Given the description of an element on the screen output the (x, y) to click on. 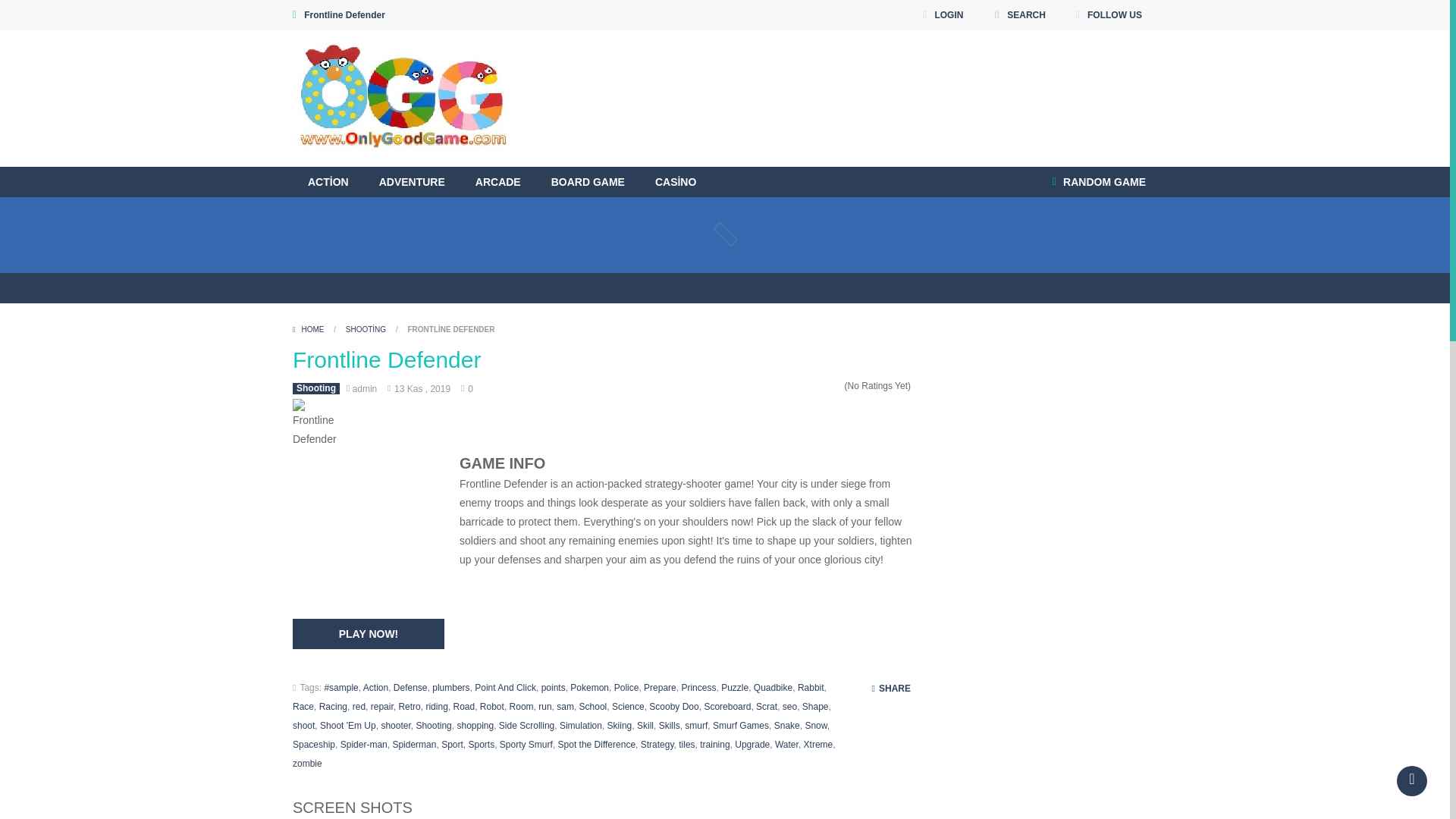
Only Good Game (401, 97)
SEARCH (1019, 15)
FOLLOW US (1108, 15)
LOGIN (942, 15)
Only Good Game (401, 98)
ACTION (328, 182)
BOARD GAME (587, 182)
ADVENTURE (412, 182)
CASINO (675, 182)
Play a random game! (1099, 182)
RANDOM GAME (1099, 182)
